Given the description of an element on the screen output the (x, y) to click on. 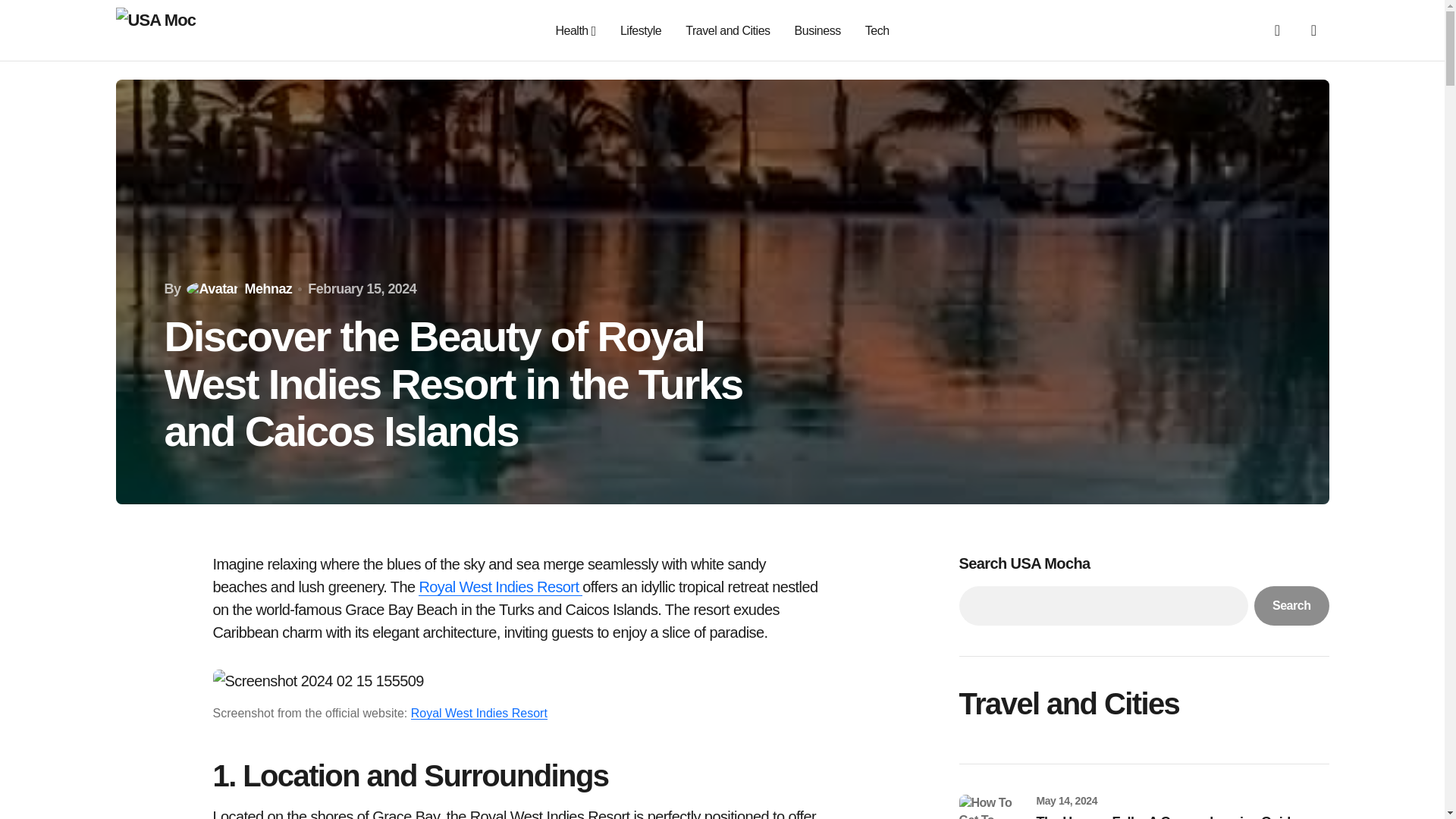
Travel and Cities (727, 30)
